Given the description of an element on the screen output the (x, y) to click on. 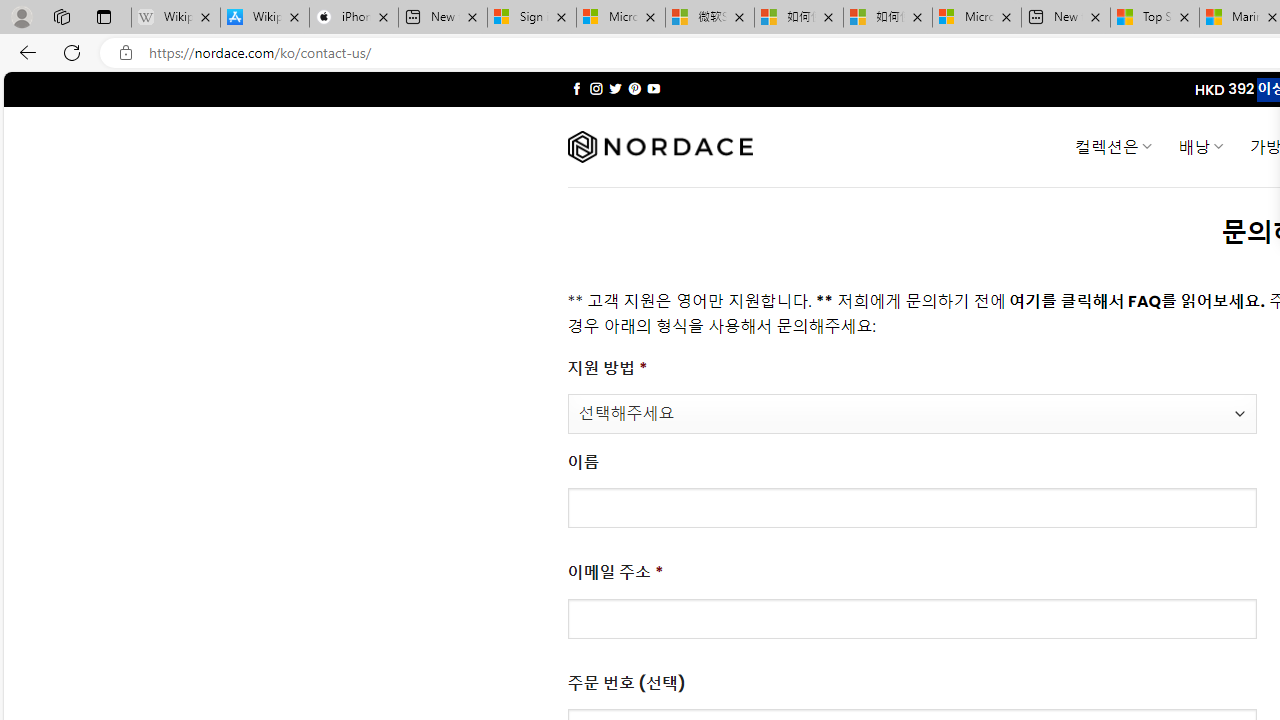
Follow on Twitter (615, 88)
